Given the description of an element on the screen output the (x, y) to click on. 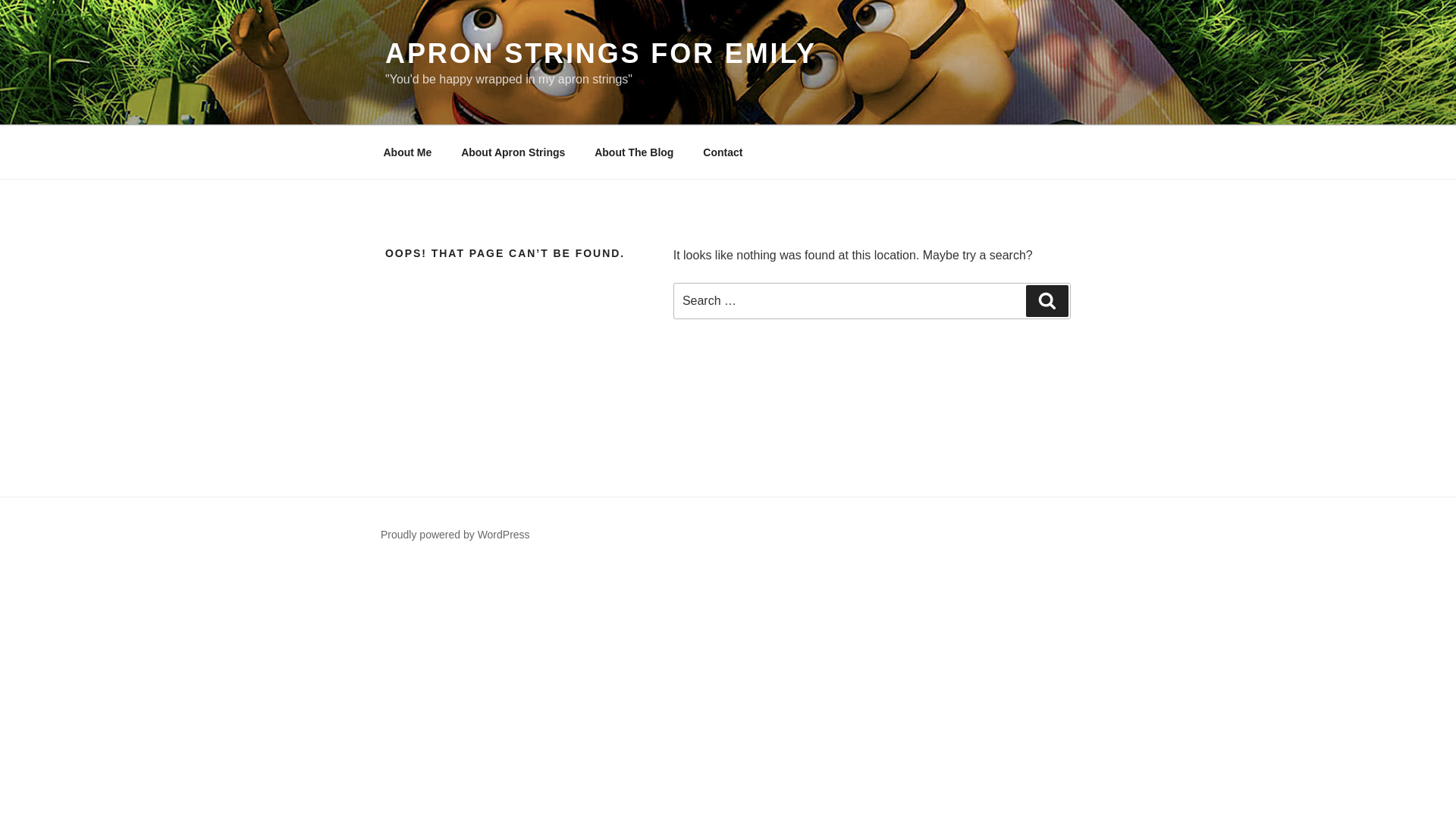
Proudly powered by WordPress (454, 534)
APRON STRINGS FOR EMILY (600, 52)
About The Blog (633, 151)
Search (1047, 300)
About Apron Strings (513, 151)
About Me (407, 151)
Contact (722, 151)
